Given the description of an element on the screen output the (x, y) to click on. 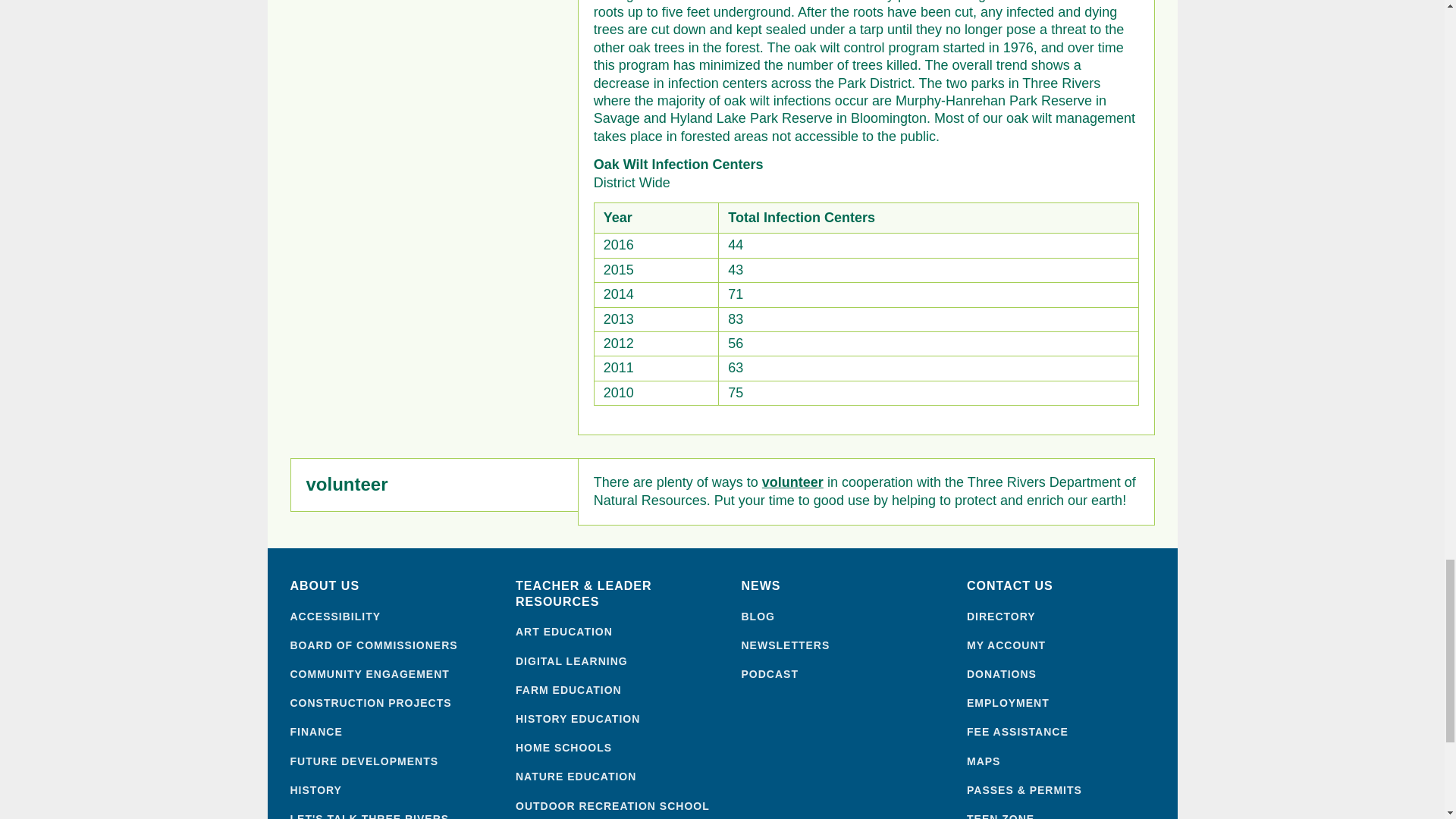
About Us (391, 586)
NATURE EDUCATION (617, 775)
HISTORY EDUCATION (617, 718)
volunteer (792, 482)
ABOUT US (391, 586)
Fee Assistance (1068, 731)
ART EDUCATION (617, 631)
LET'S TALK THREE RIVERS (391, 815)
FARM EDUCATION (617, 689)
COMMUNITY ENGAGEMENT (391, 673)
